Given the description of an element on the screen output the (x, y) to click on. 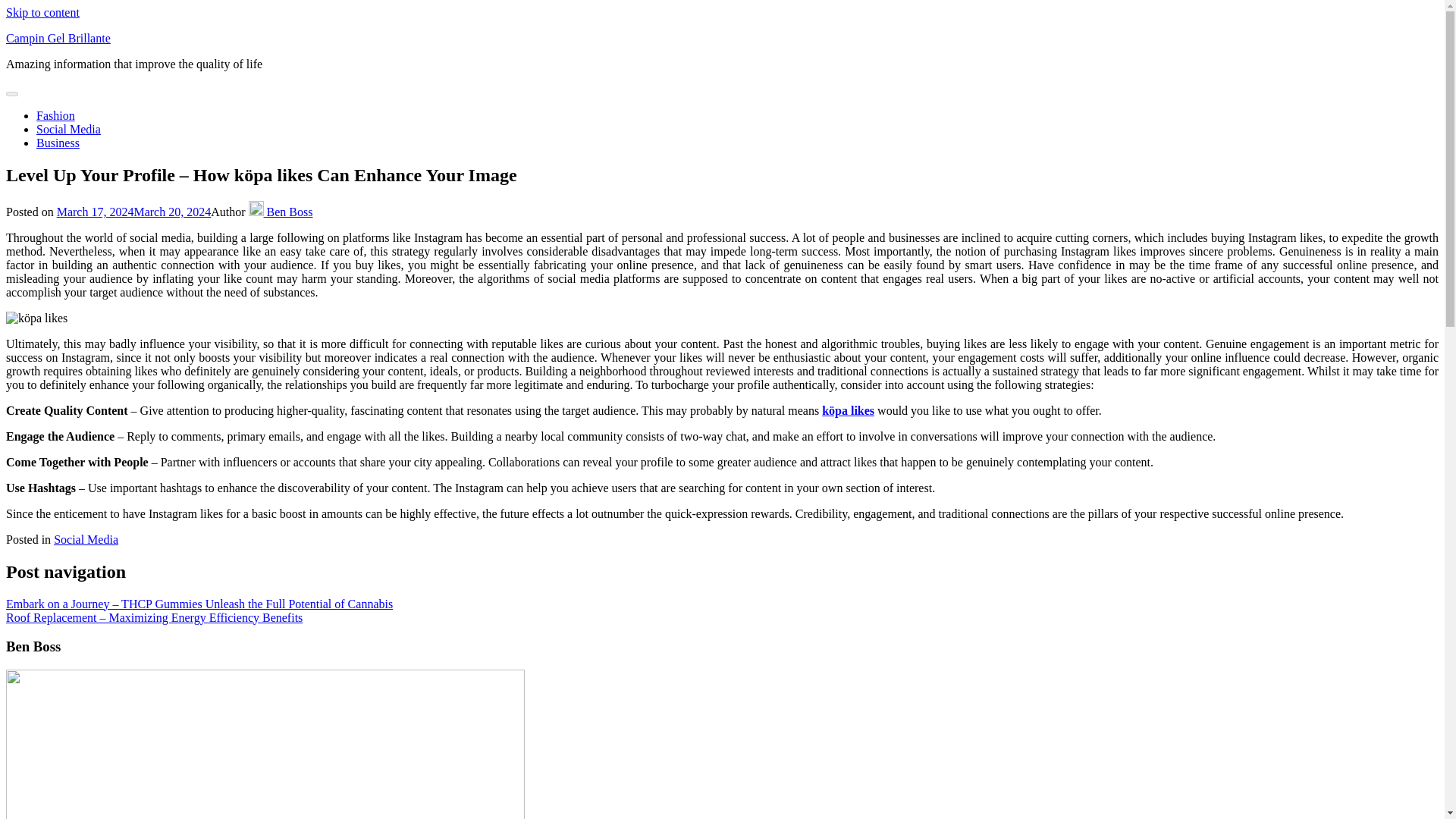
Business (58, 142)
Ben Boss (280, 211)
Campin Gel Brillante (57, 38)
Social Media (68, 128)
Skip to content (42, 11)
March 17, 2024March 20, 2024 (133, 211)
Fashion (55, 115)
Social Media (85, 539)
